Given the description of an element on the screen output the (x, y) to click on. 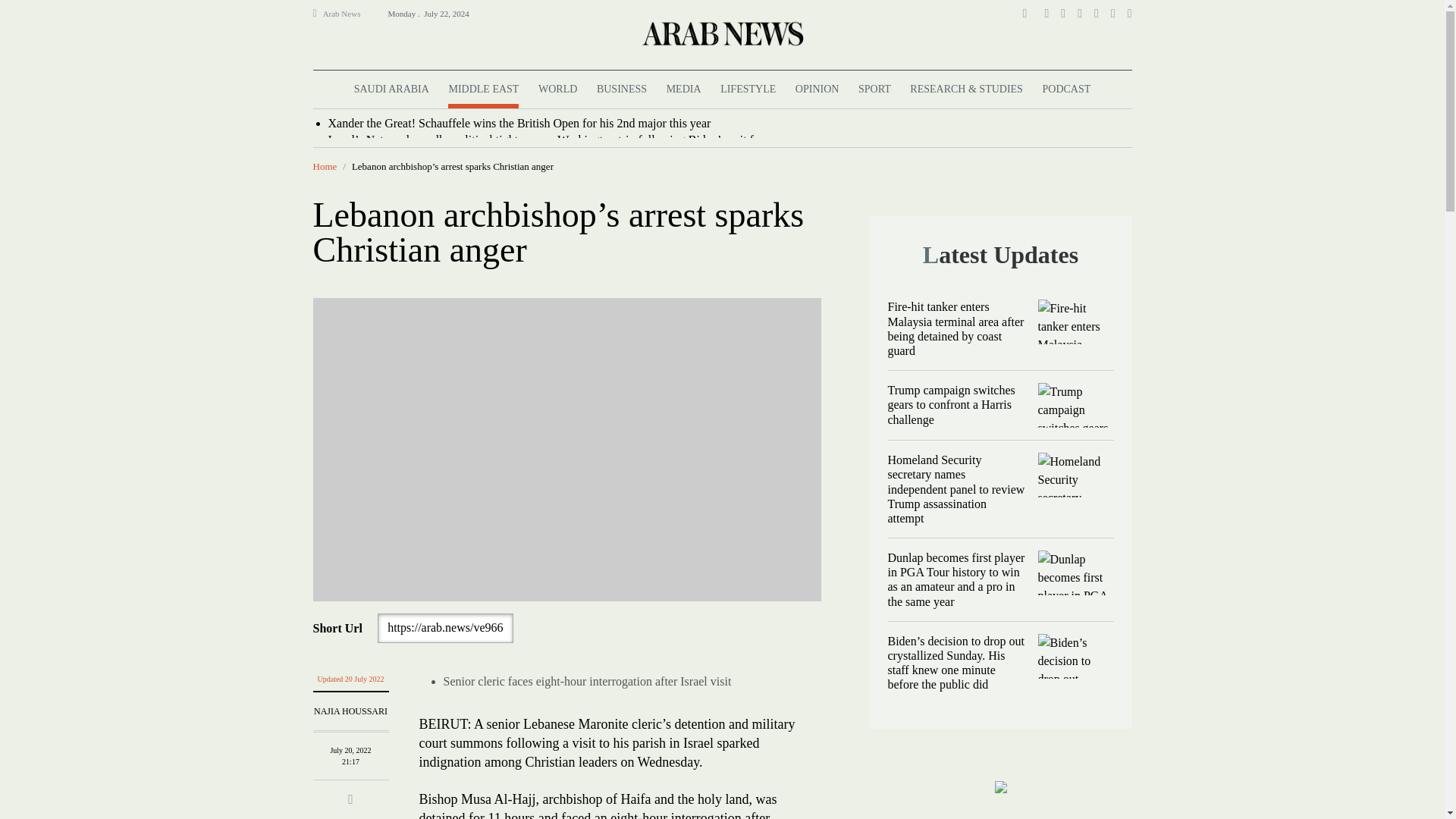
Arab News (348, 13)
Arabnews (721, 33)
Trump campaign switches gears to confront a Harris challenge (1074, 405)
